Given the description of an element on the screen output the (x, y) to click on. 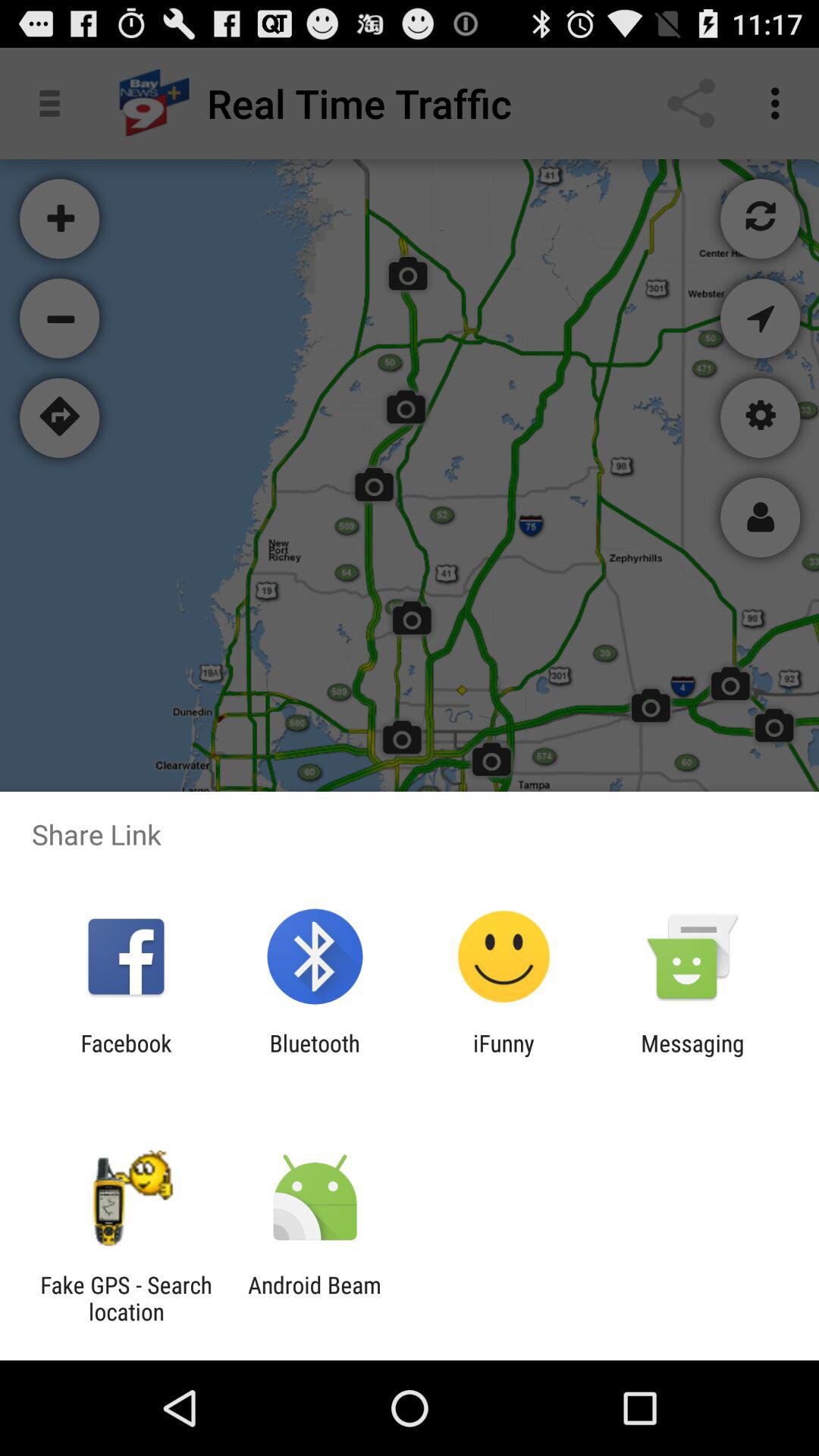
choose item next to bluetooth icon (503, 1056)
